Given the description of an element on the screen output the (x, y) to click on. 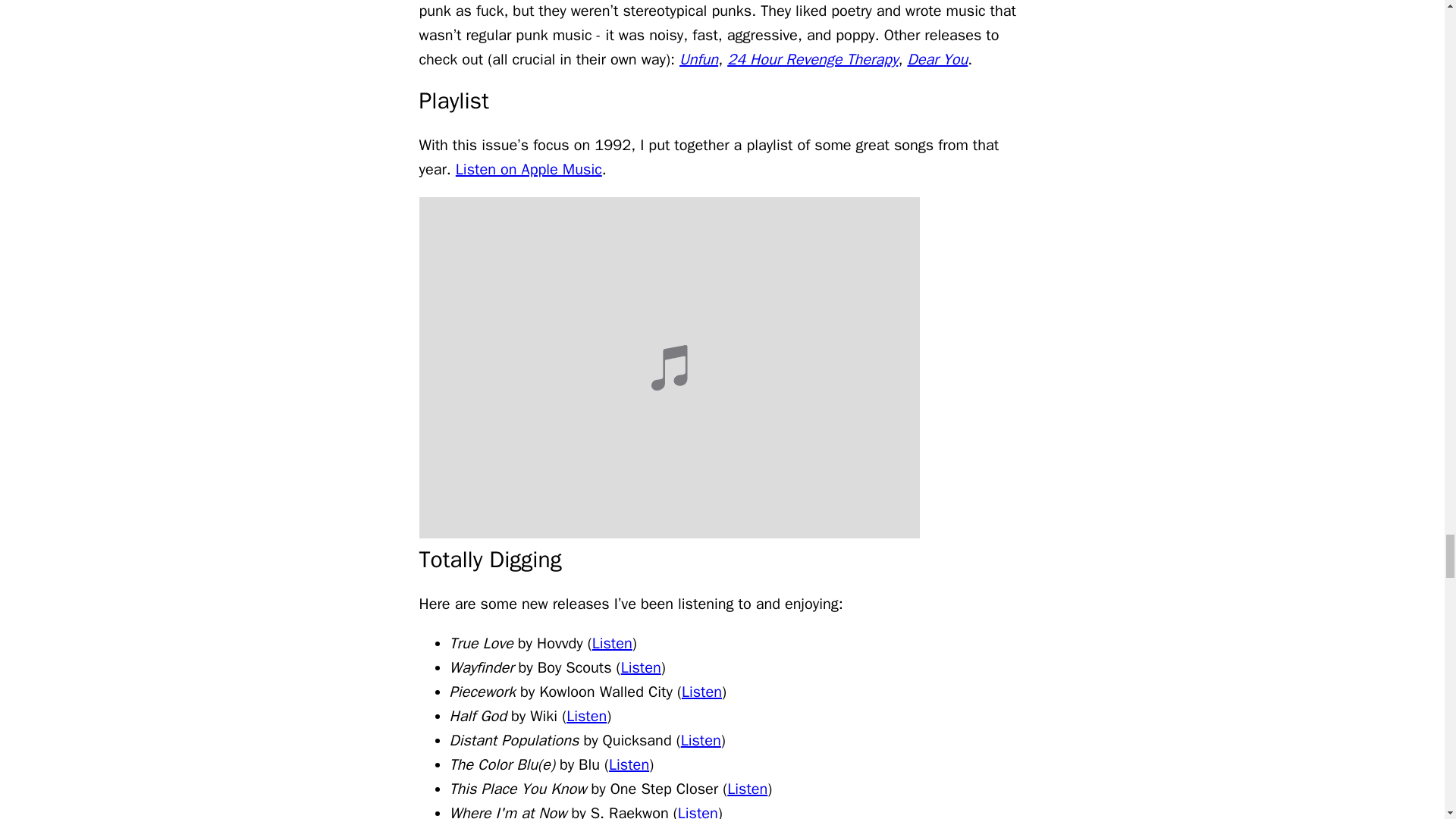
Listen on Apple Music (528, 169)
Listen (611, 642)
Listen (586, 715)
